Given the description of an element on the screen output the (x, y) to click on. 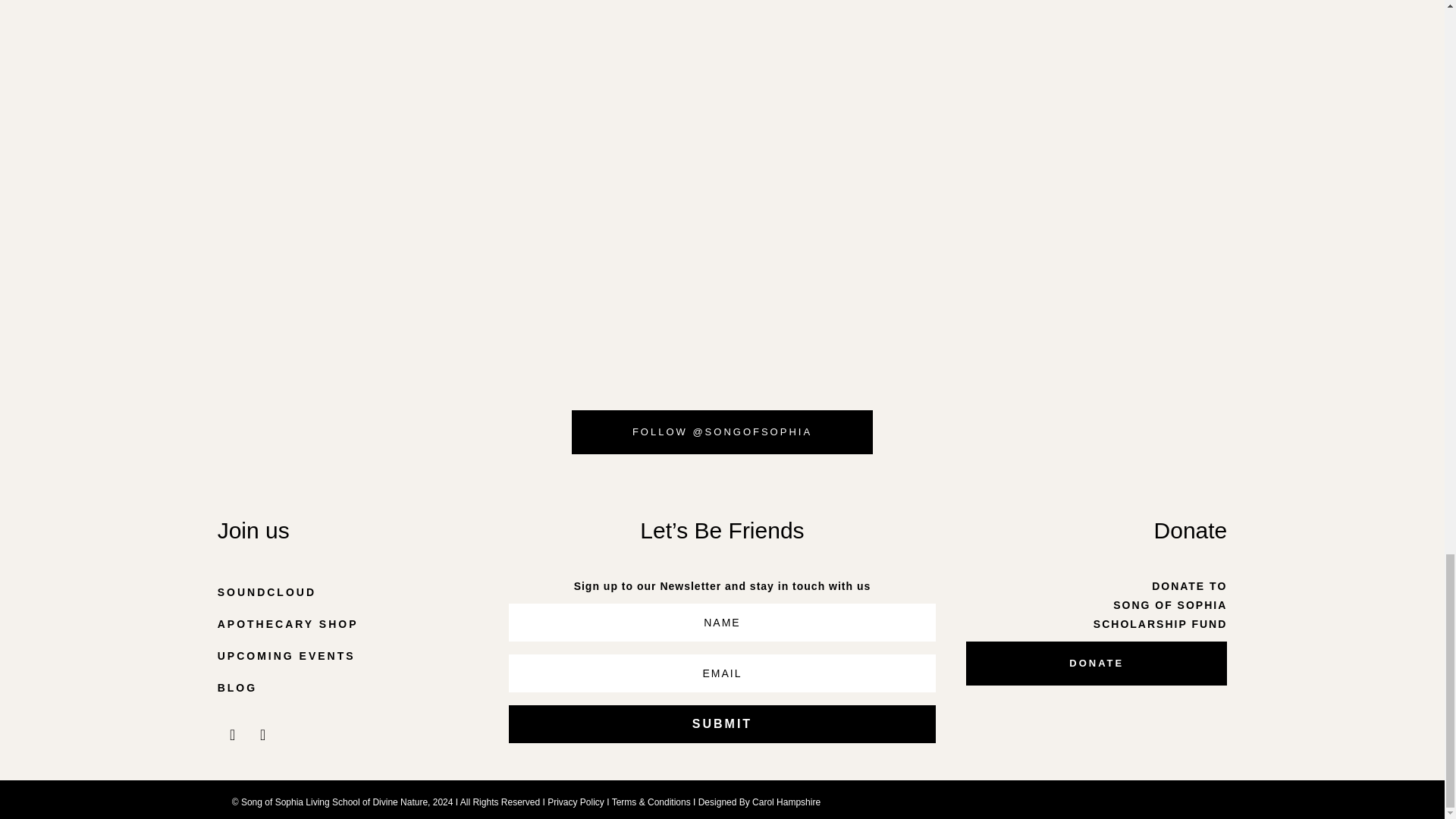
DONATE (1096, 663)
SUBMIT (722, 723)
Facebook (262, 734)
APOTHECARY SHOP (347, 624)
Instagram (231, 734)
BLOG (347, 687)
UPCOMING EVENTS (347, 655)
Privacy Policy (575, 801)
SOUNDCLOUD (347, 592)
